Given the description of an element on the screen output the (x, y) to click on. 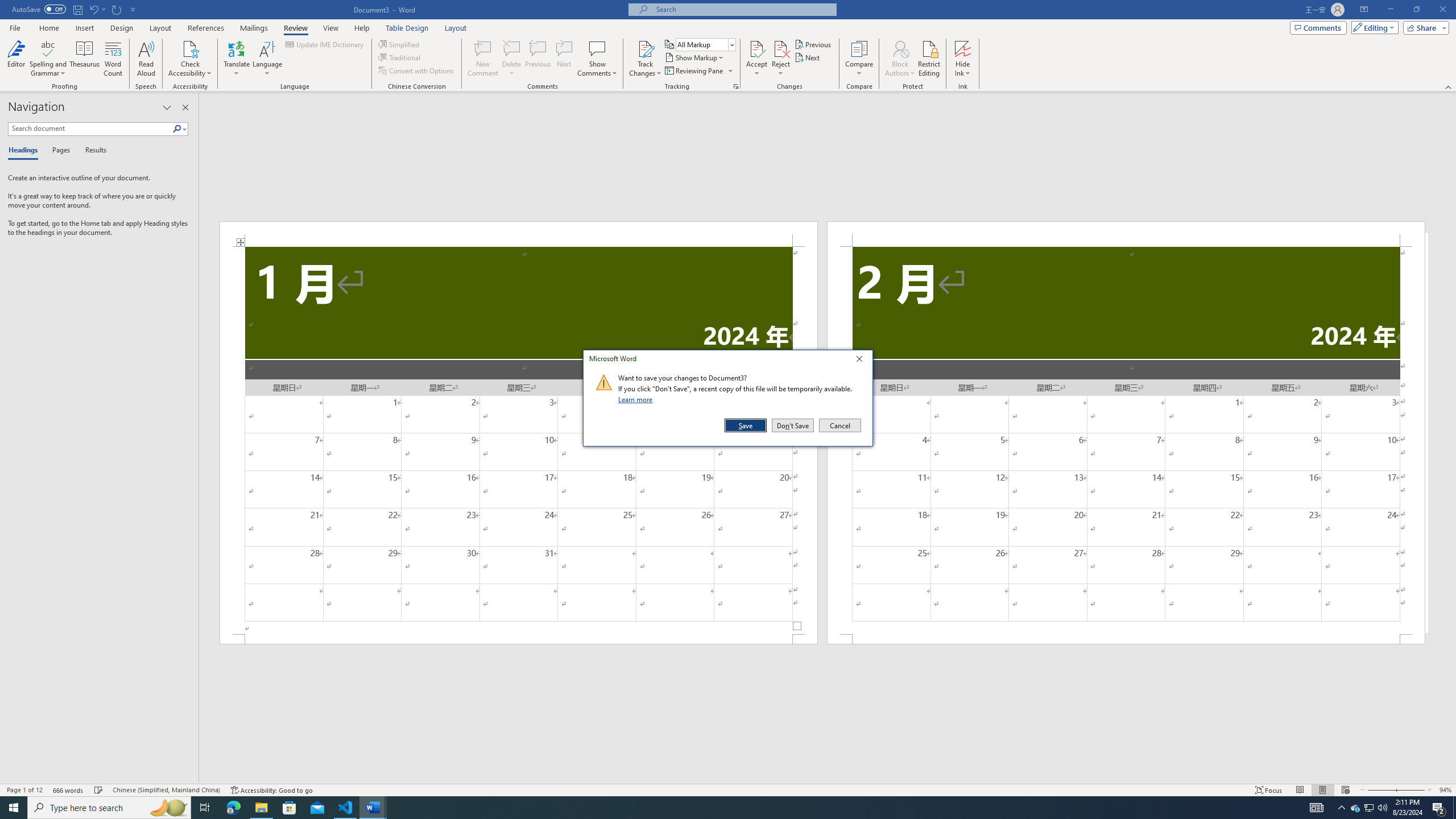
Show Comments (597, 48)
Word - 2 running windows (373, 807)
Track Changes (644, 48)
Next (808, 56)
Simplified (400, 44)
